Given the description of an element on the screen output the (x, y) to click on. 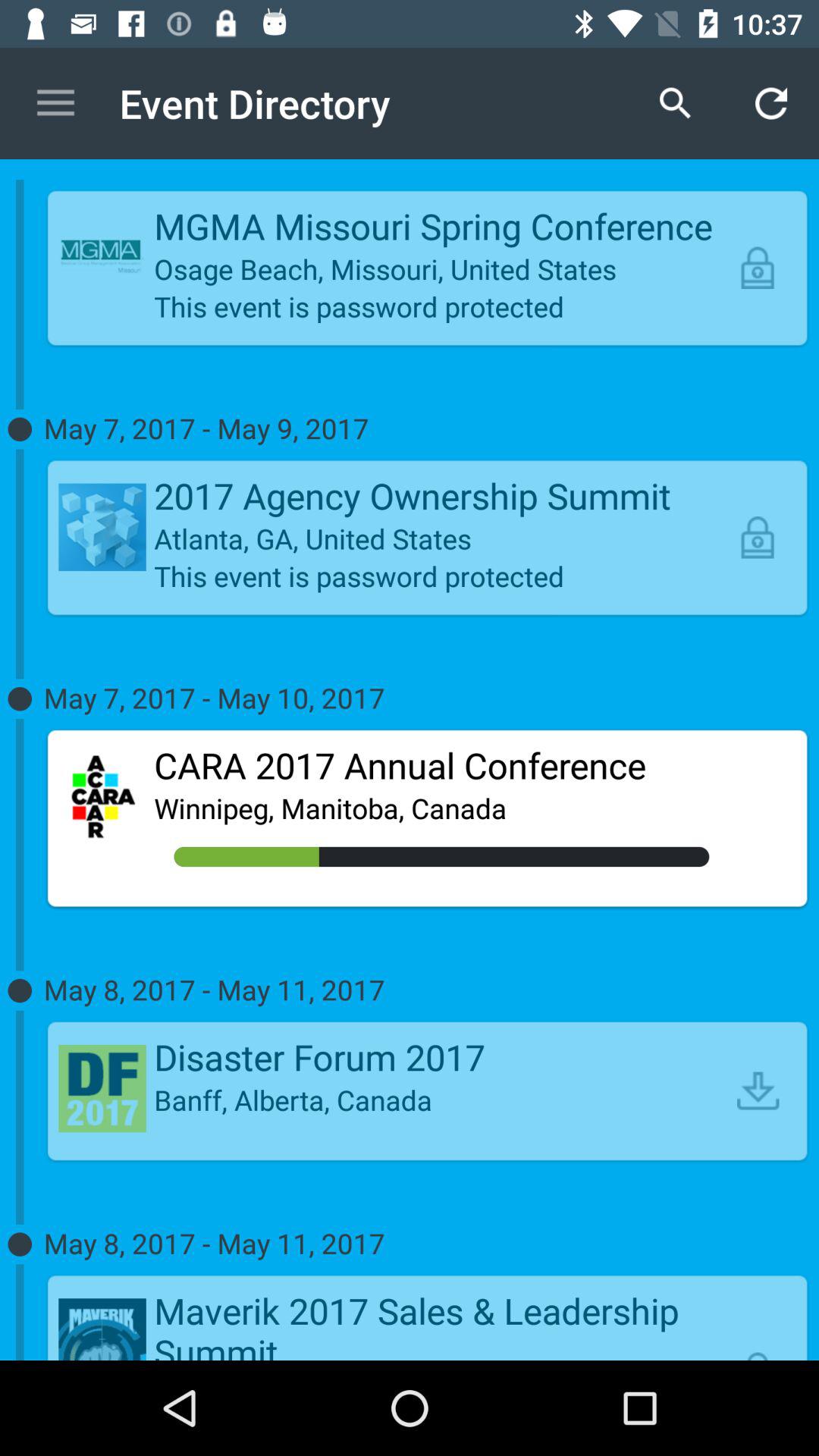
press the item below the cara 2017 annual icon (441, 807)
